Given the description of an element on the screen output the (x, y) to click on. 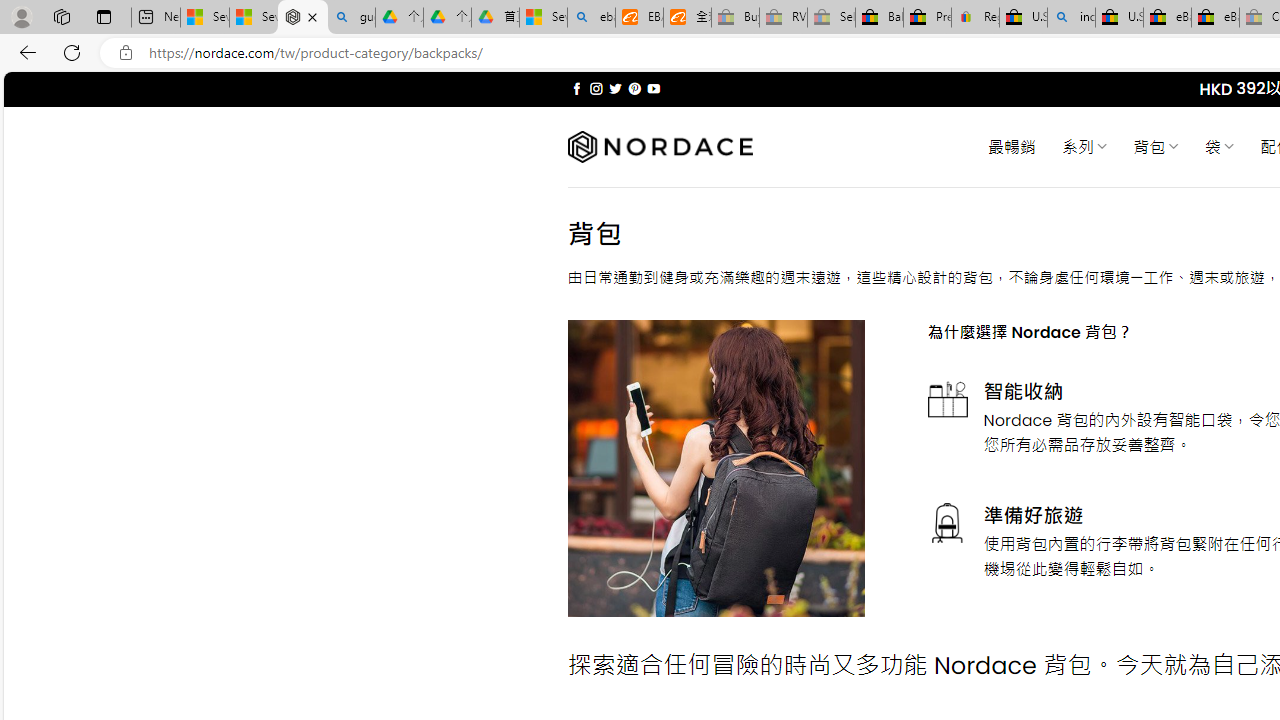
Baby Keepsakes & Announcements for sale | eBay (879, 17)
Follow on Pinterest (634, 88)
Follow on Facebook (576, 88)
eBay Inc. Reports Third Quarter 2023 Results (1215, 17)
U.S. State Privacy Disclosures - eBay Inc. (1119, 17)
ebay - Search (591, 17)
